Given the description of an element on the screen output the (x, y) to click on. 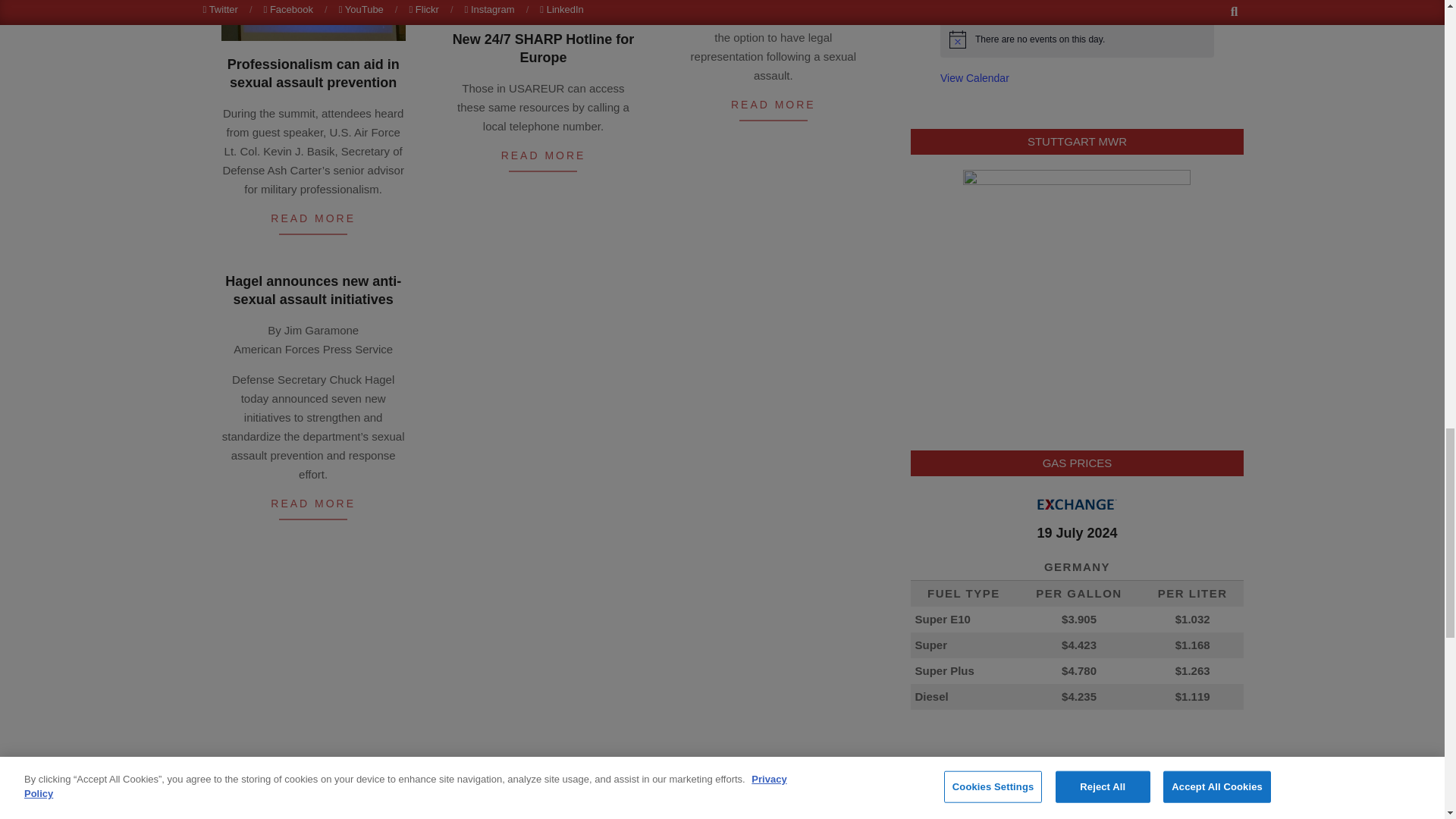
View more events. (974, 78)
